Given the description of an element on the screen output the (x, y) to click on. 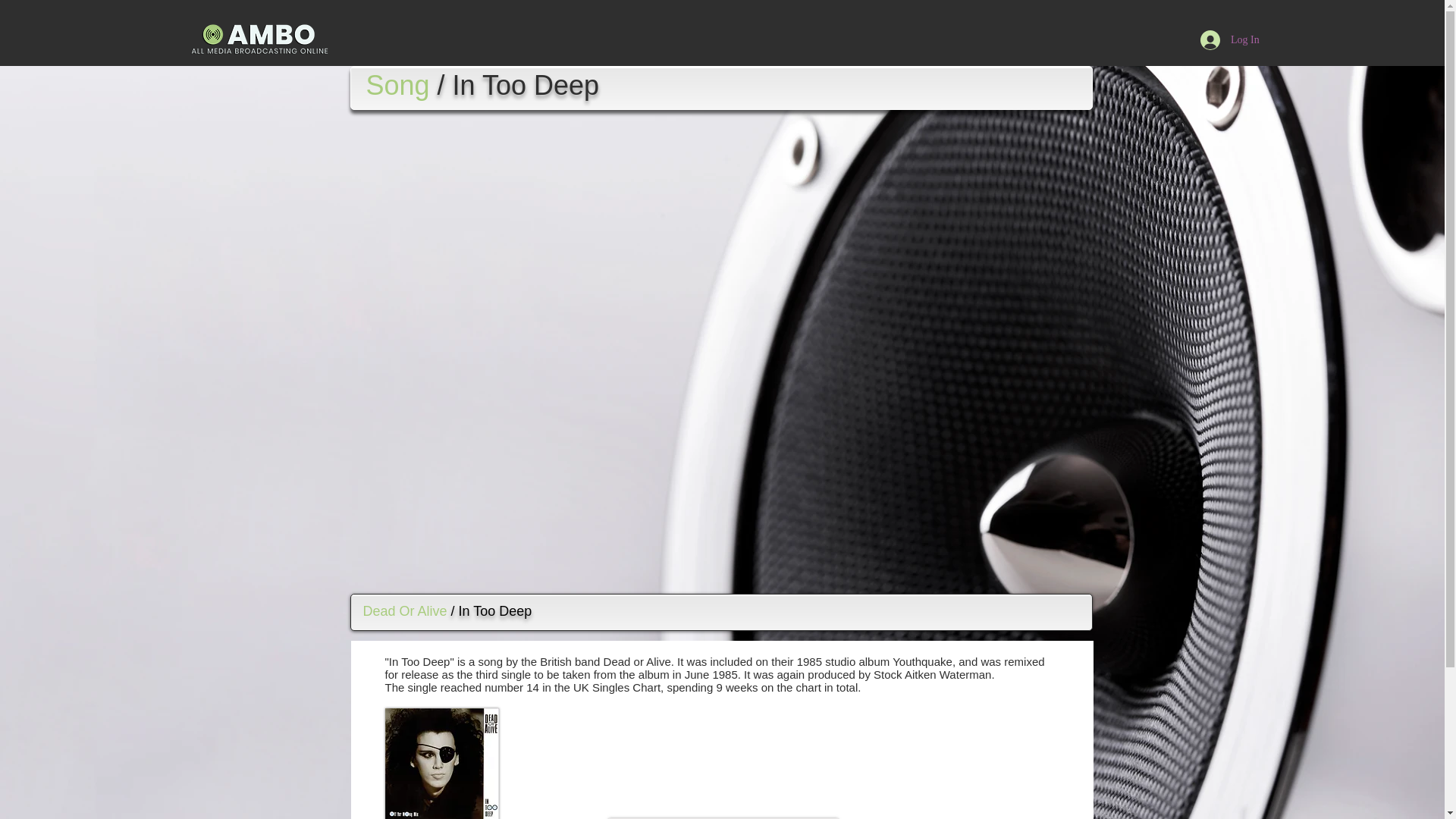
Log In (1229, 39)
Dead or Alive (637, 661)
UK Singles Chart (617, 686)
Youthquake (922, 661)
